Given the description of an element on the screen output the (x, y) to click on. 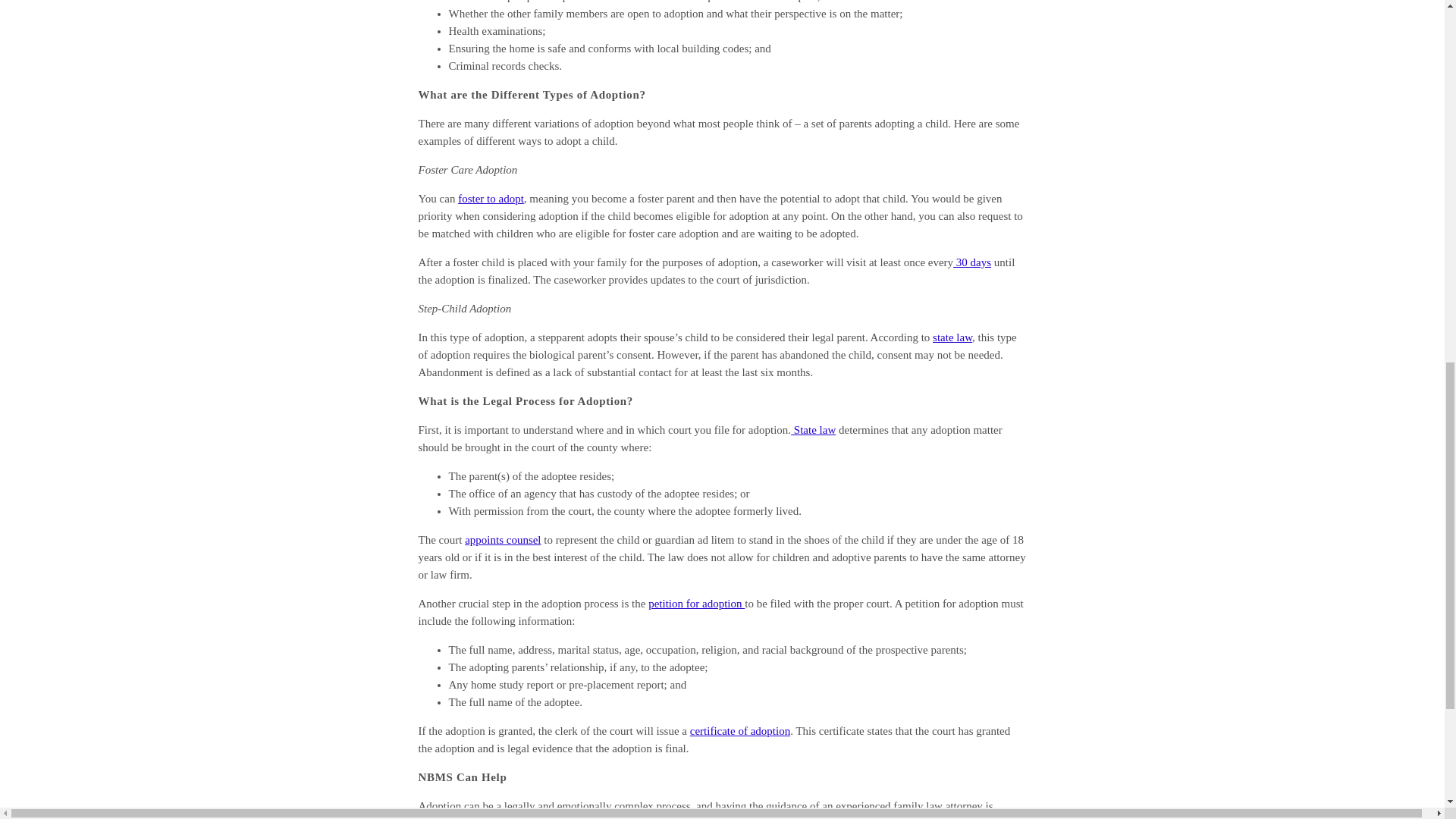
certificate of adoption (740, 730)
state law (952, 337)
foster to adopt (491, 198)
law firm (494, 818)
State law (812, 429)
petition for adoption (695, 603)
30 days (972, 262)
appoints counsel (502, 539)
